Given the description of an element on the screen output the (x, y) to click on. 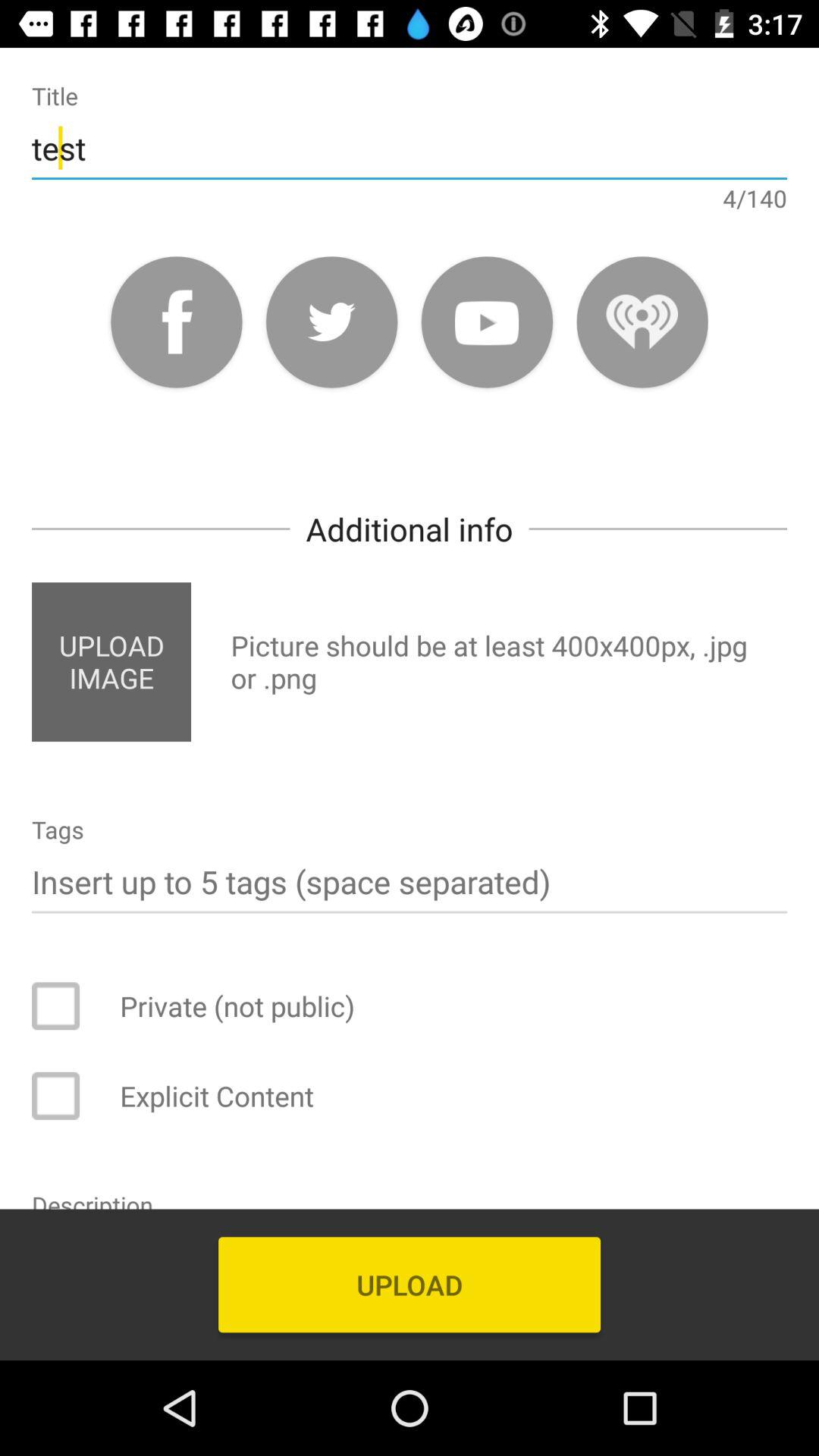
select item above the 4/140 (409, 147)
